Given the description of an element on the screen output the (x, y) to click on. 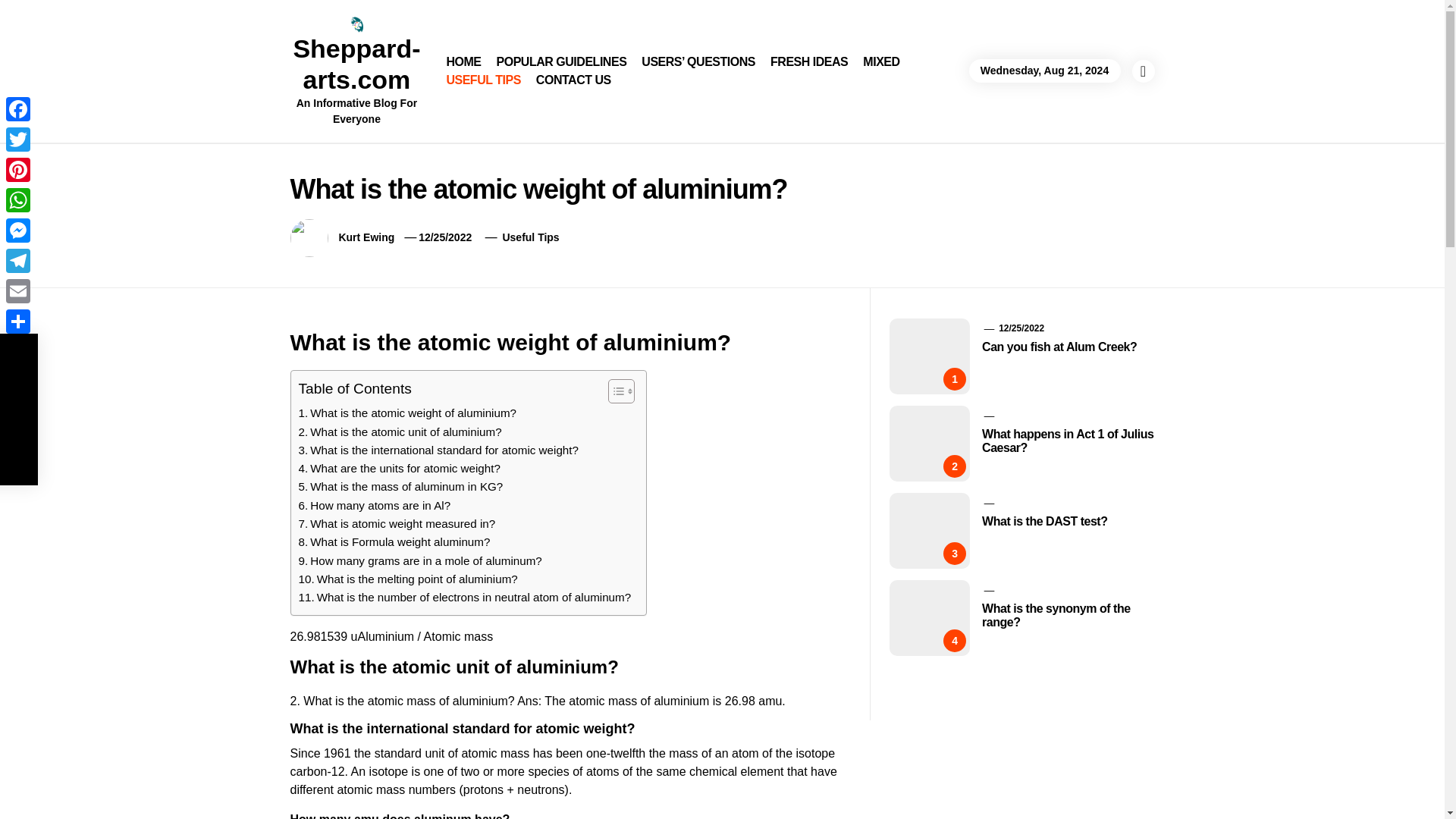
What is the international standard for atomic weight? (438, 450)
What is atomic weight measured in? (397, 524)
FRESH IDEAS (809, 62)
What is the atomic unit of aluminium? (400, 432)
Useful Tips (530, 236)
How many grams are in a mole of aluminum? (419, 561)
Sheppard-arts.com (356, 64)
What are the units for atomic weight? (399, 468)
MIXED (881, 62)
What is Formula weight aluminum? (394, 542)
